Given the description of an element on the screen output the (x, y) to click on. 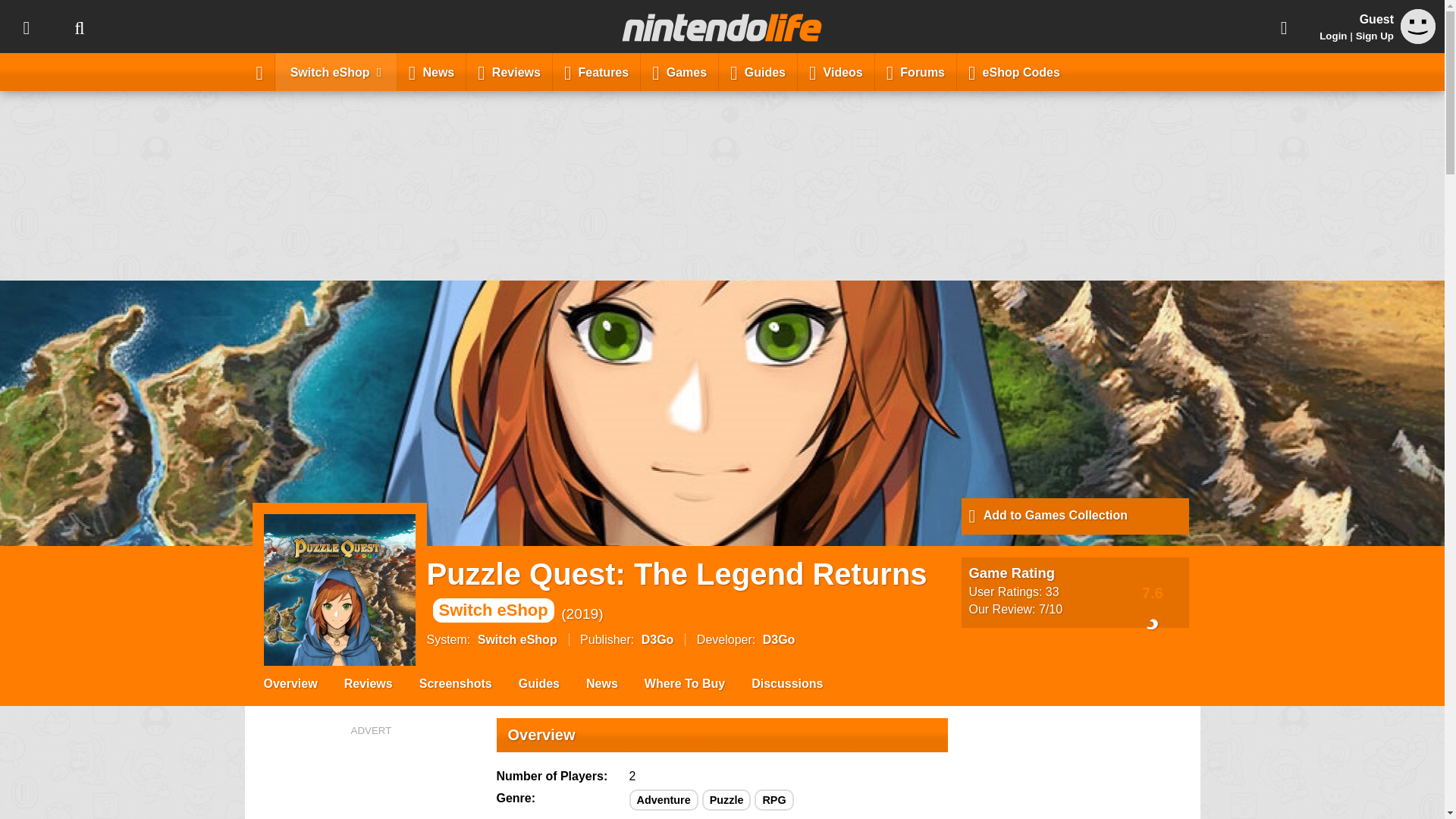
Guest (1417, 26)
Guest (1417, 39)
Reviews (509, 71)
Sign Up (1374, 35)
Nintendo Life (721, 27)
Share This Page (1283, 26)
Forums (915, 71)
Features (596, 71)
Topics (26, 26)
Search (79, 26)
Videos (836, 71)
News (431, 71)
Switch eShop (336, 71)
Login (1332, 35)
Games (679, 71)
